Given the description of an element on the screen output the (x, y) to click on. 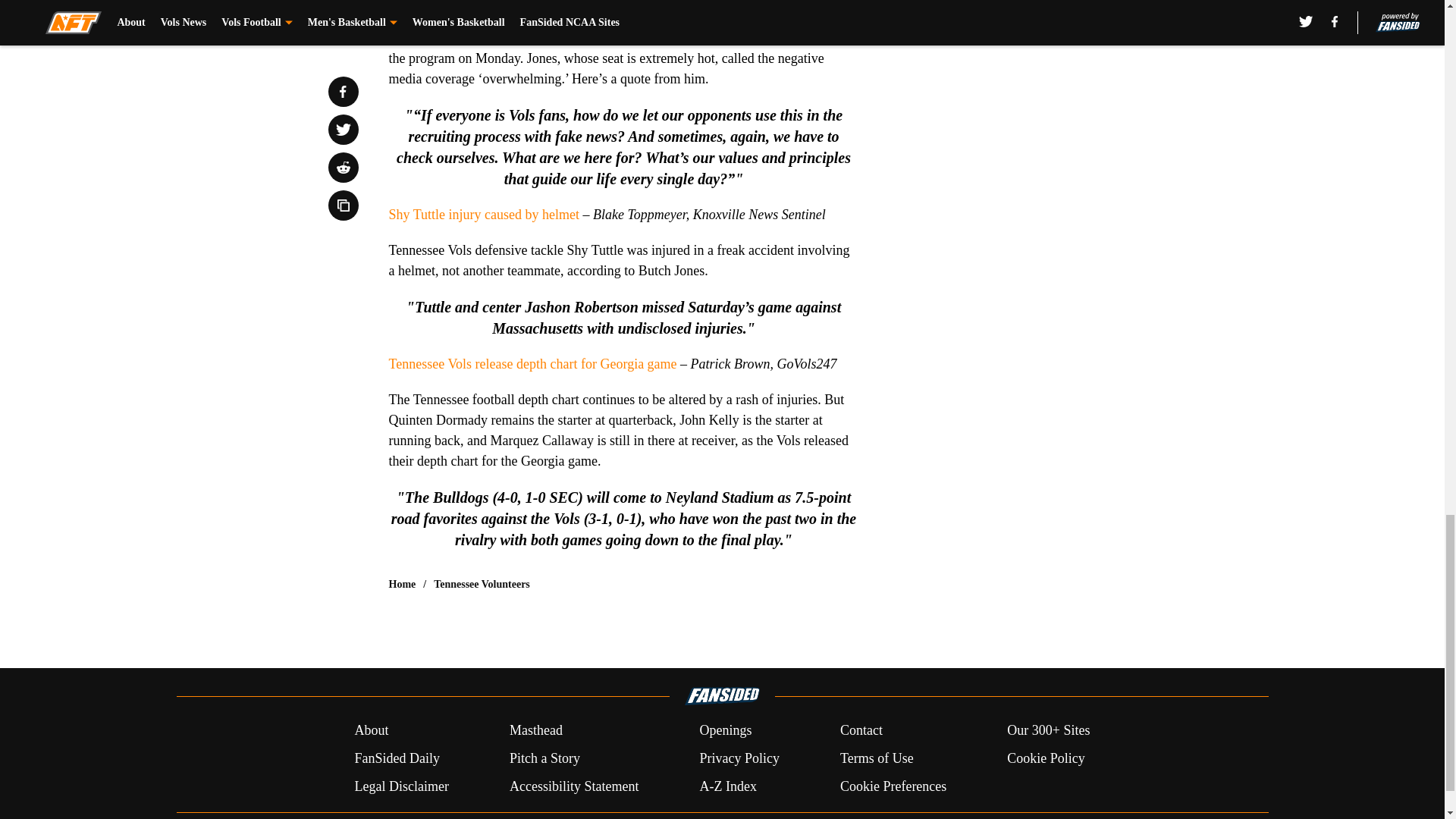
Cookie Policy (1045, 758)
Legal Disclaimer (400, 786)
Home (401, 584)
Contact (861, 730)
Openings (724, 730)
About (370, 730)
Cookie Preferences (893, 786)
A-Z Index (726, 786)
Masthead (535, 730)
Tennessee Vols release depth chart for Georgia game (532, 363)
Butch Jones criticizes media coverage of Tennessee Vols (542, 4)
FanSided Daily (396, 758)
Privacy Policy (738, 758)
Pitch a Story (544, 758)
Terms of Use (877, 758)
